Given the description of an element on the screen output the (x, y) to click on. 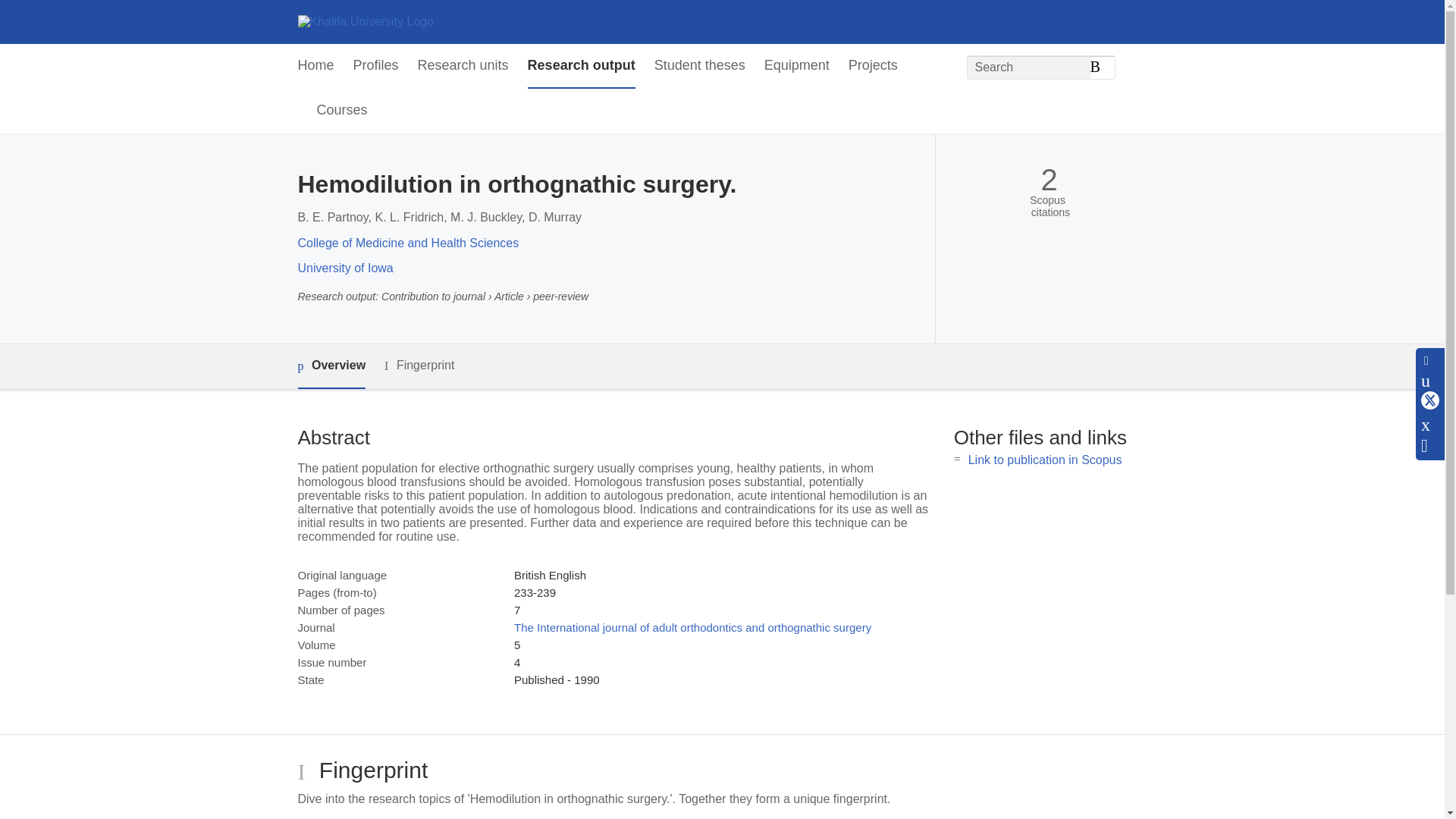
Research units (462, 66)
University of Iowa (345, 267)
Link to publication in Scopus (1045, 459)
Student theses (699, 66)
Projects (873, 66)
Courses (342, 110)
Fingerprint (419, 365)
Overview (331, 366)
